Given the description of an element on the screen output the (x, y) to click on. 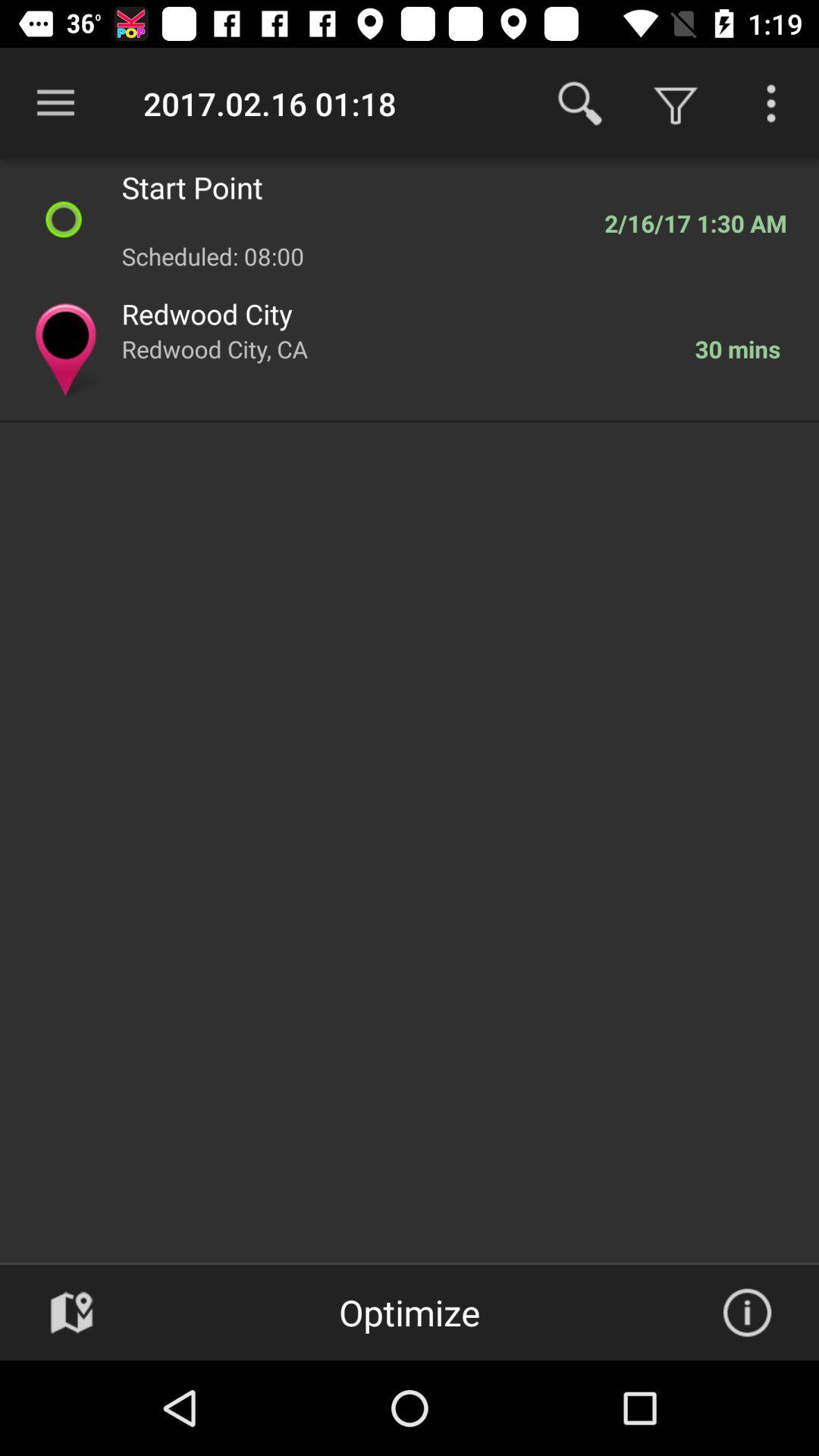
switch to filter (771, 103)
